Given the description of an element on the screen output the (x, y) to click on. 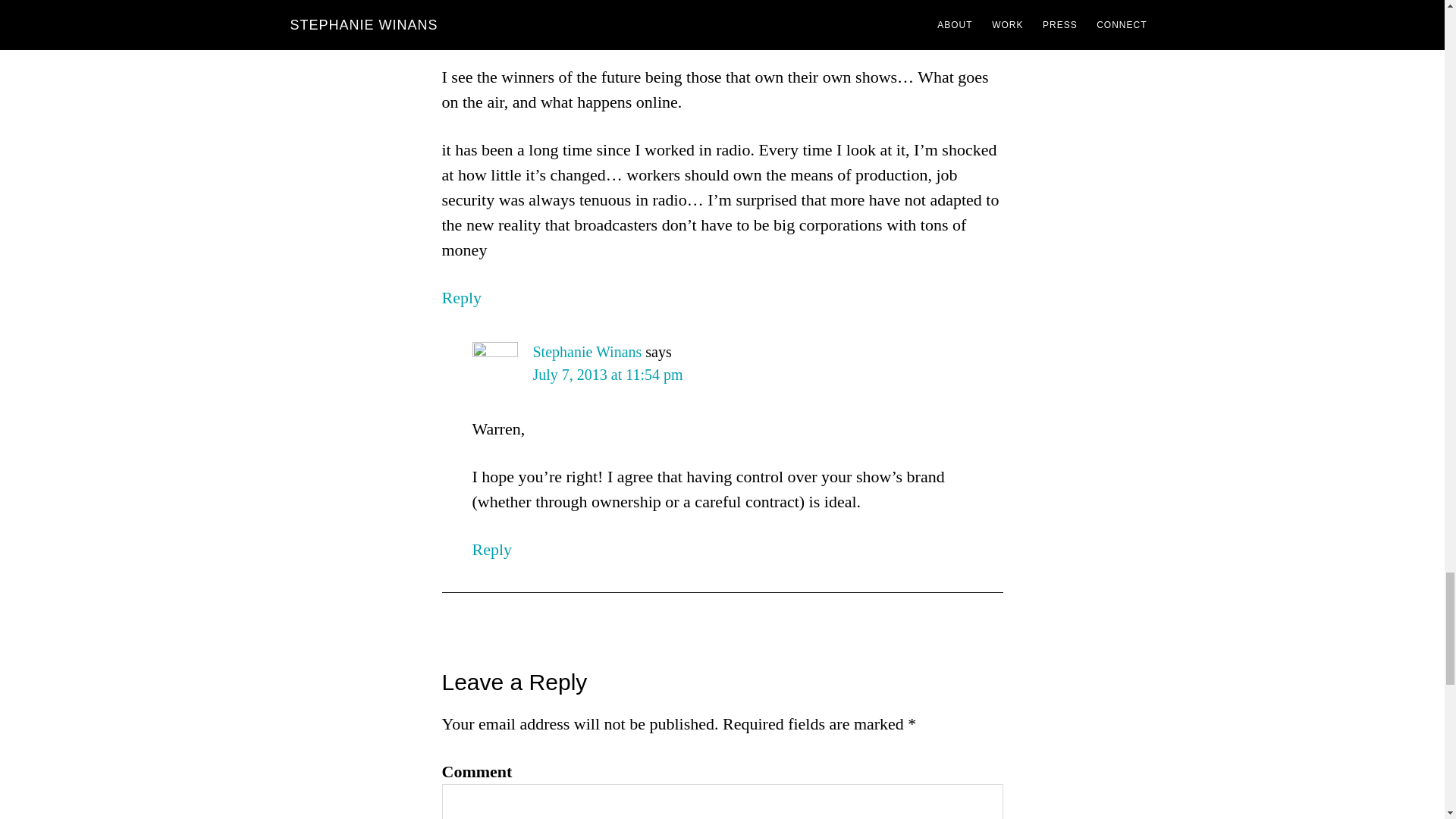
Reply (461, 297)
Stephanie Winans (587, 351)
